Given the description of an element on the screen output the (x, y) to click on. 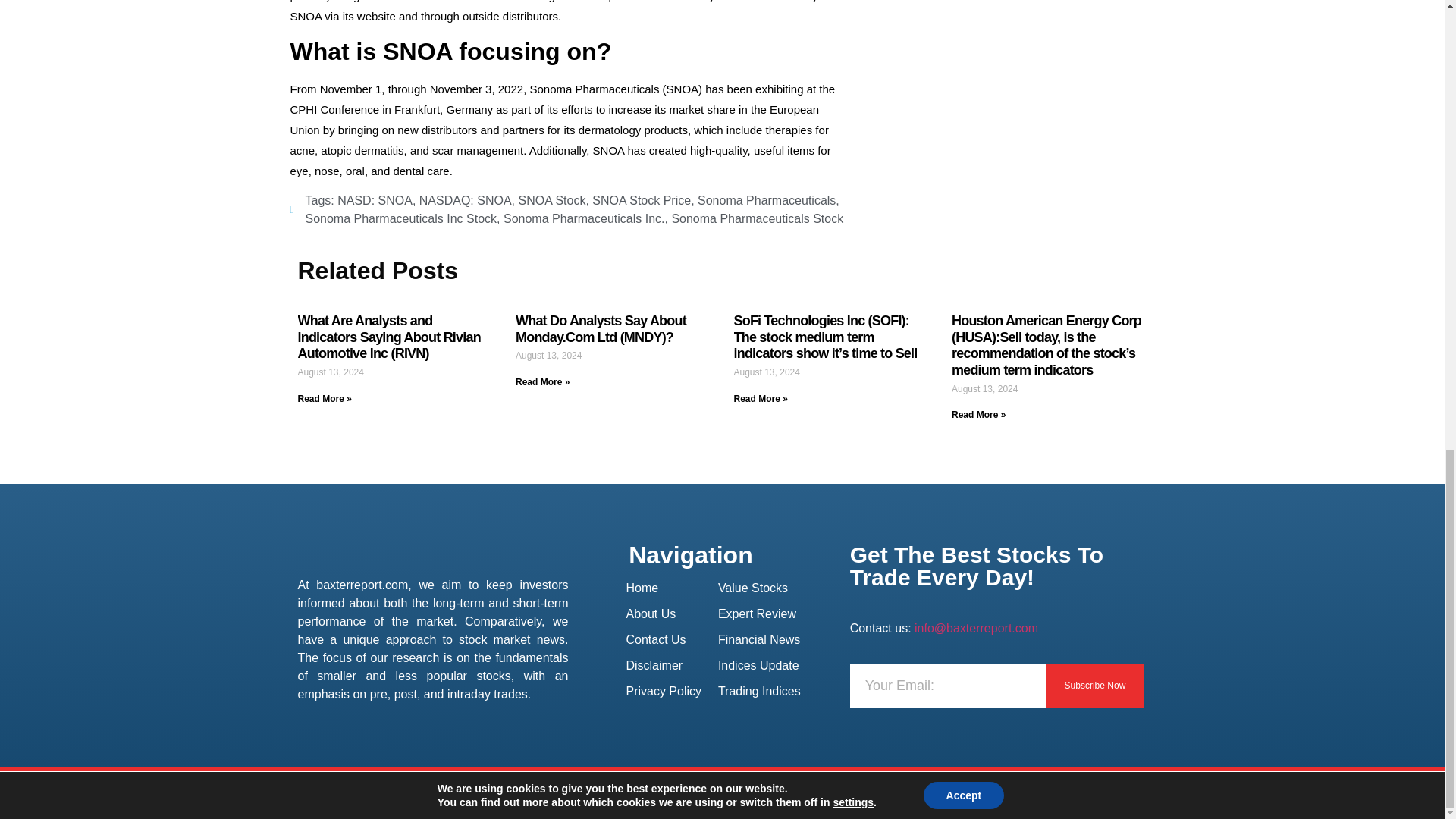
NASDAQ: SNOA (465, 200)
Sonoma Pharmaceuticals Inc. (584, 218)
Sonoma Pharmaceuticals Inc Stock (400, 218)
Sonoma Pharmaceuticals Stock (757, 218)
SNOA Stock (551, 200)
NASD: SNOA (374, 200)
Sonoma Pharmaceuticals (766, 200)
SNOA Stock Price (641, 200)
